Given the description of an element on the screen output the (x, y) to click on. 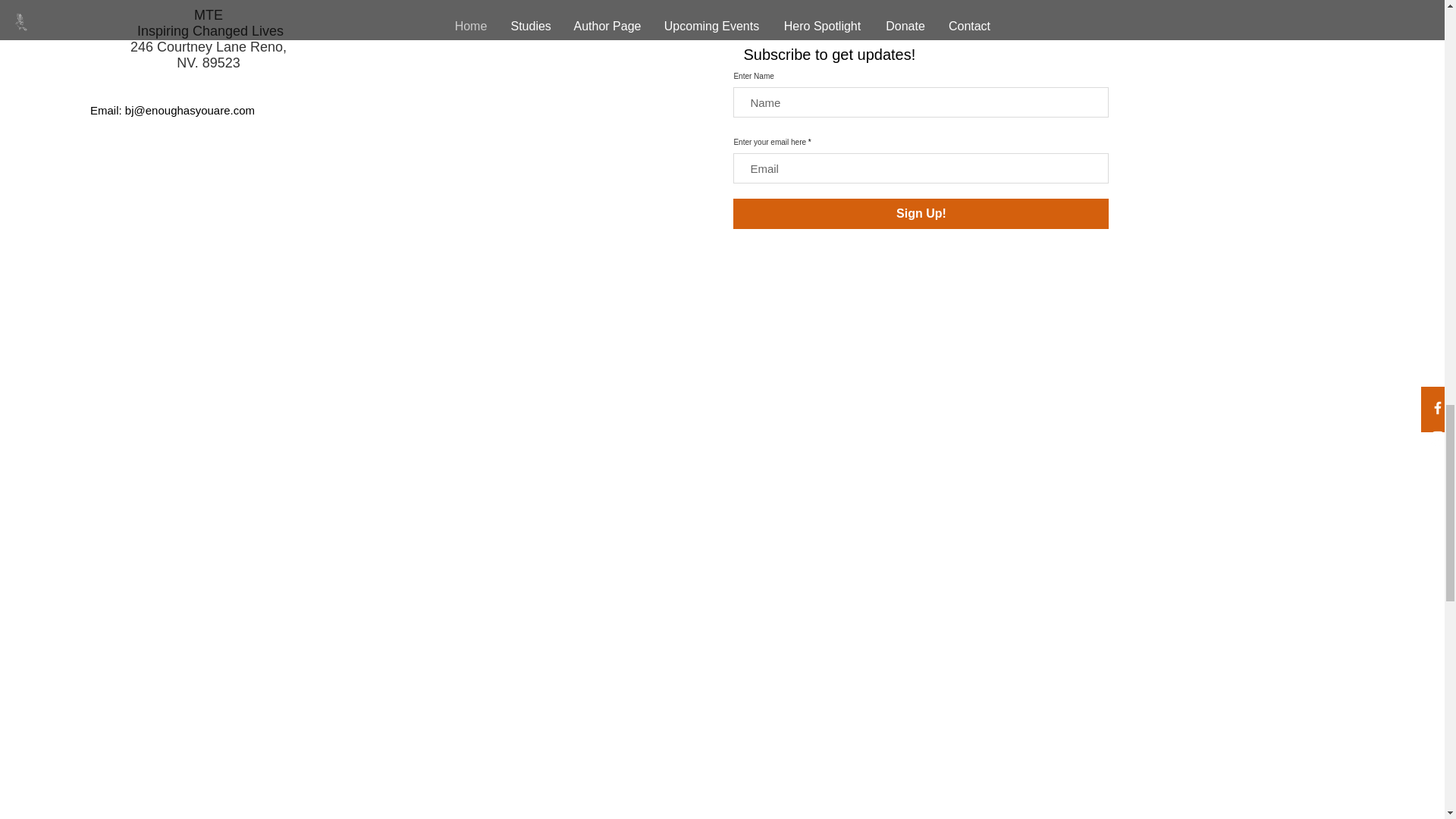
Sign Up! (920, 214)
